Given the description of an element on the screen output the (x, y) to click on. 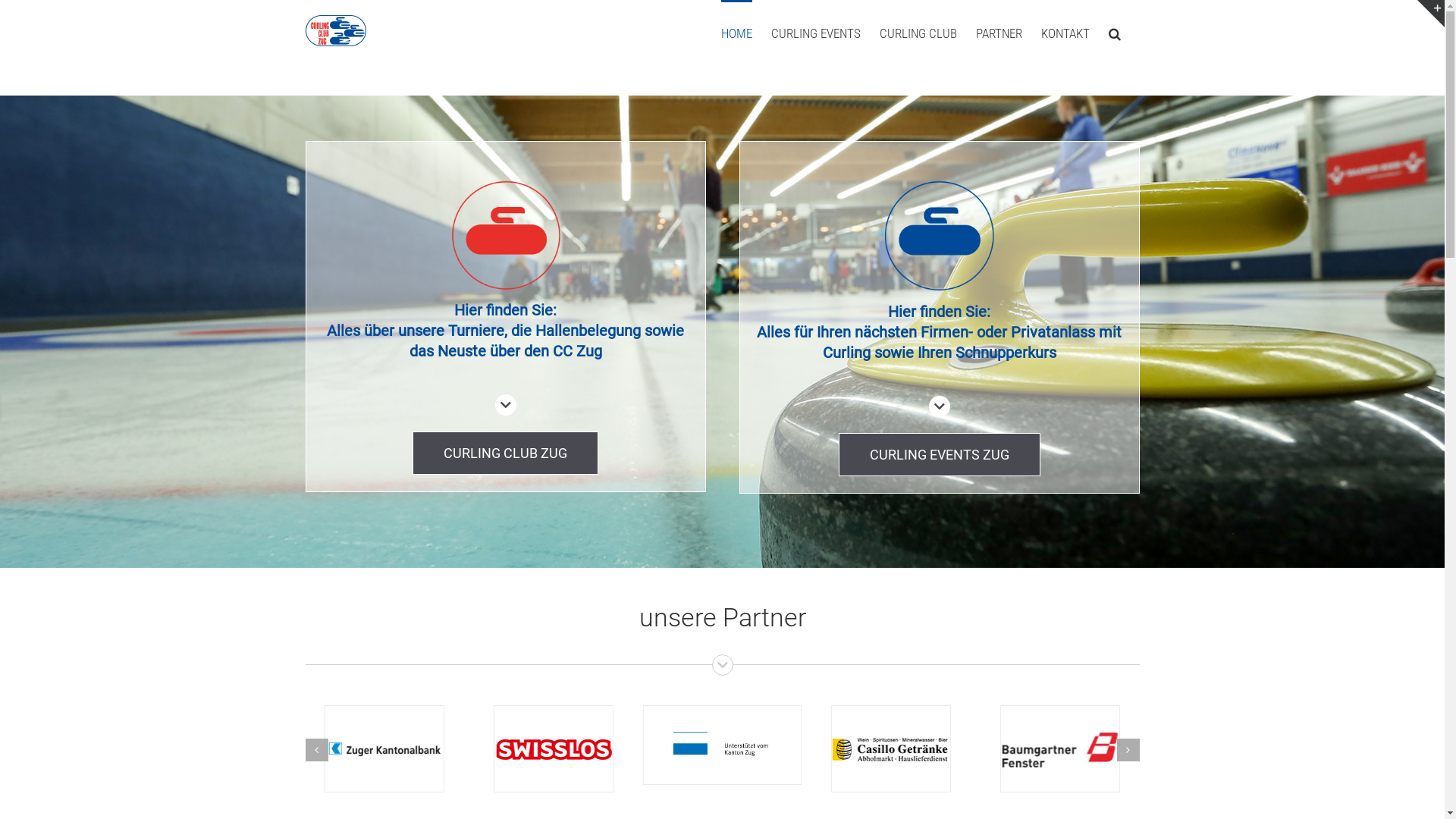
CURLING EVENTS Element type: text (814, 32)
Suche Element type: hover (1114, 32)
CURLING CLUB Element type: text (918, 32)
PARTNER Element type: text (998, 32)
CURLING EVENTS ZUG Element type: text (939, 454)
Toggle Sliding Bar Area Element type: text (1430, 13)
CURLING CLUB ZUG Element type: text (505, 452)
KONTAKT Element type: text (1064, 32)
HOME Element type: text (735, 32)
